Given the description of an element on the screen output the (x, y) to click on. 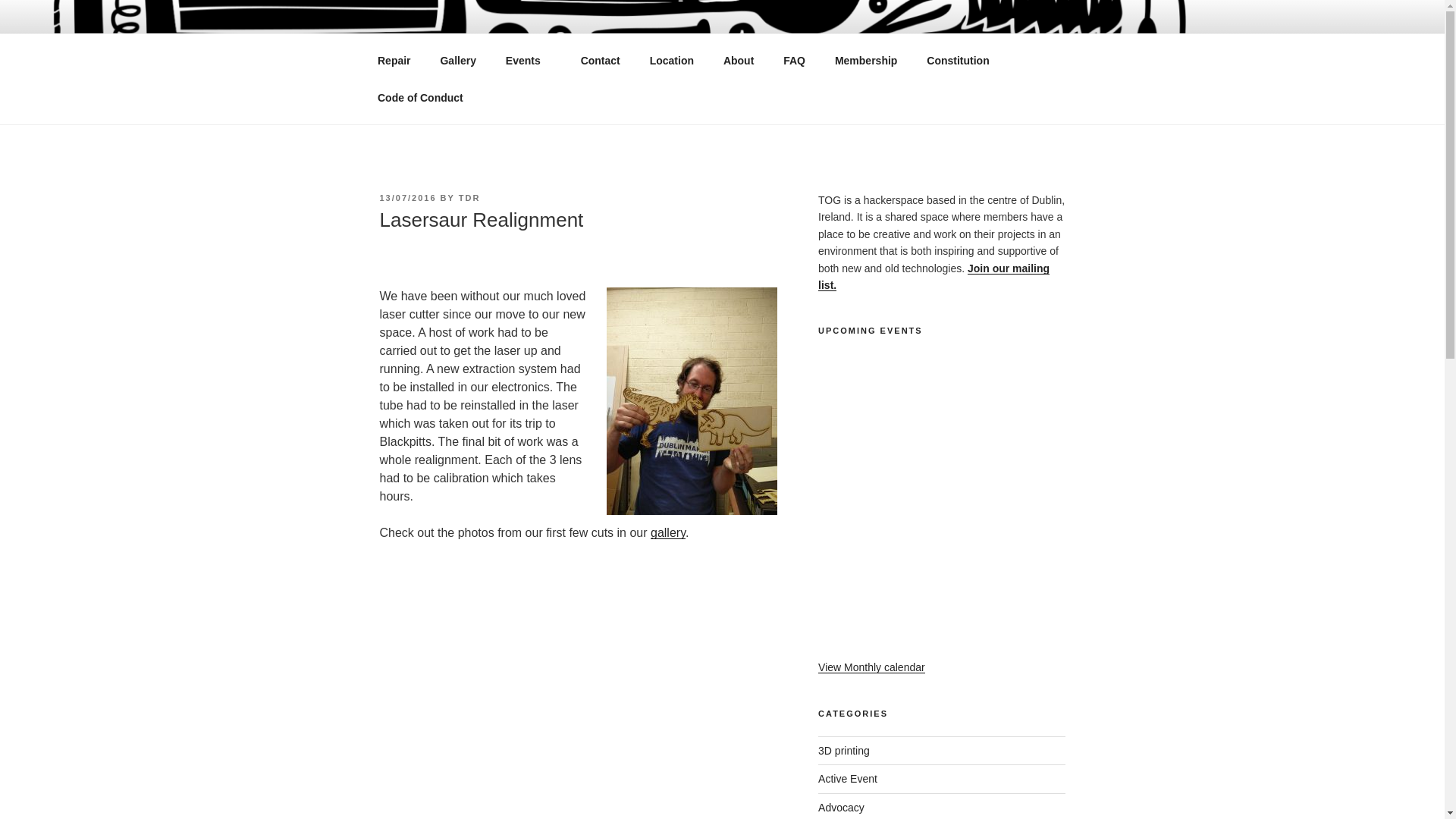
Membership (865, 60)
Code of Conduct (420, 97)
Gallery (457, 60)
Join our mailing list. (933, 276)
3D printing (843, 750)
About (738, 60)
TOG HACKERSPACE (532, 52)
FAQ (794, 60)
Location (671, 60)
Contact (600, 60)
